Given the description of an element on the screen output the (x, y) to click on. 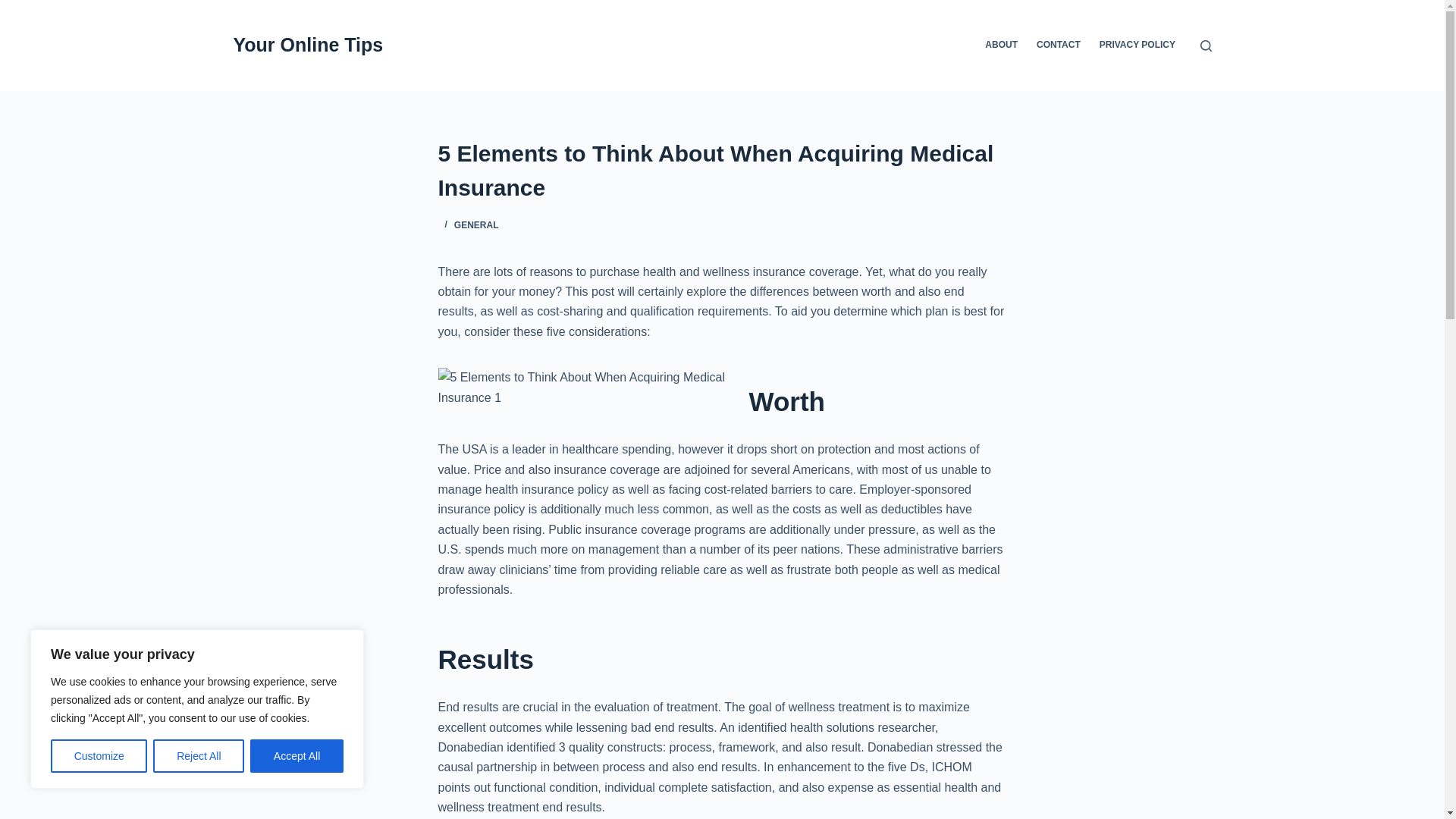
Your Online Tips (308, 44)
GENERAL (476, 225)
PRIVACY POLICY (1137, 45)
Skip to content (15, 7)
Customize (98, 756)
Reject All (198, 756)
5 Elements to Think About When Acquiring Medical Insurance (722, 170)
Accept All (296, 756)
